Given the description of an element on the screen output the (x, y) to click on. 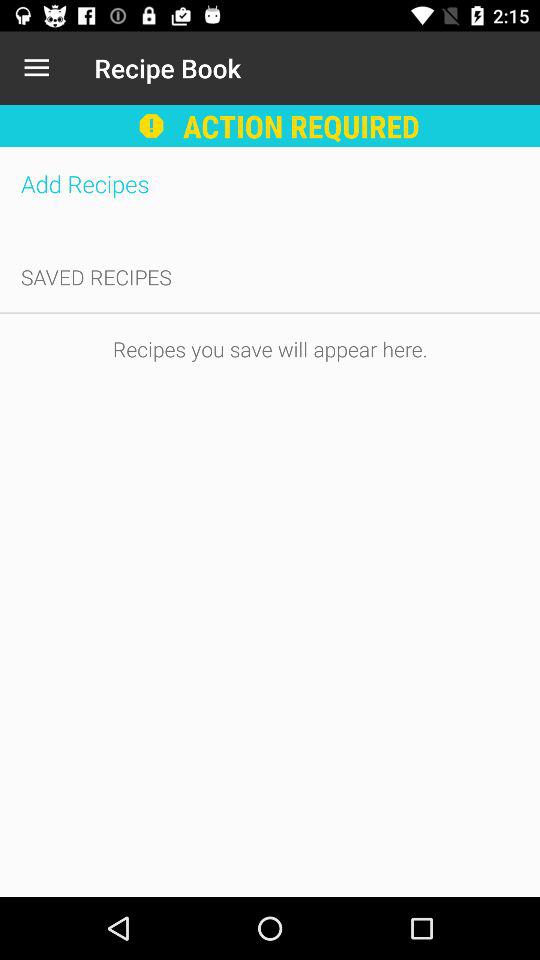
scroll until add recipes (270, 183)
